Given the description of an element on the screen output the (x, y) to click on. 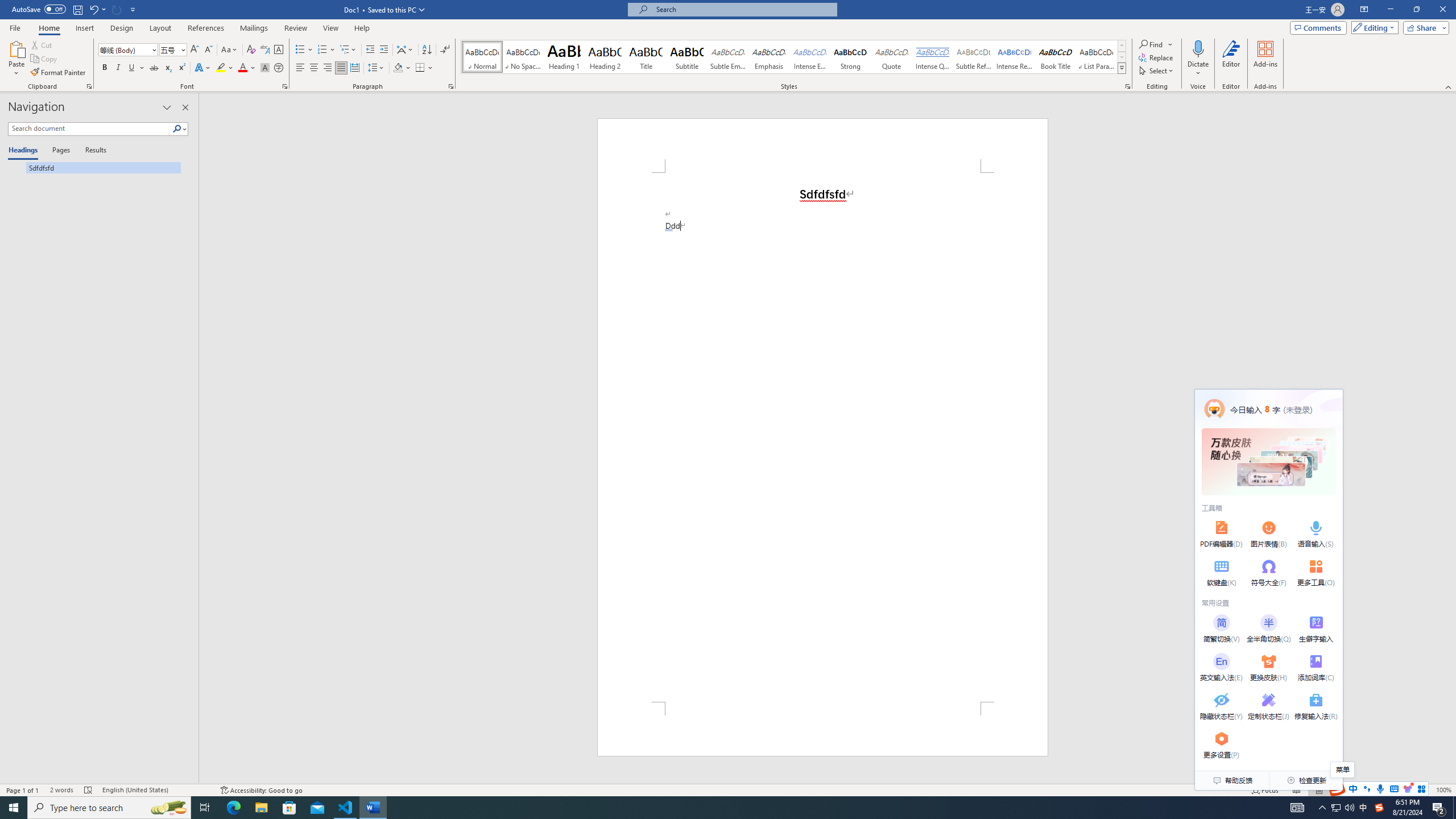
Subtle Emphasis (727, 56)
Page Number Page 1 of 1 (22, 790)
Font Color Red (241, 67)
